Given the description of an element on the screen output the (x, y) to click on. 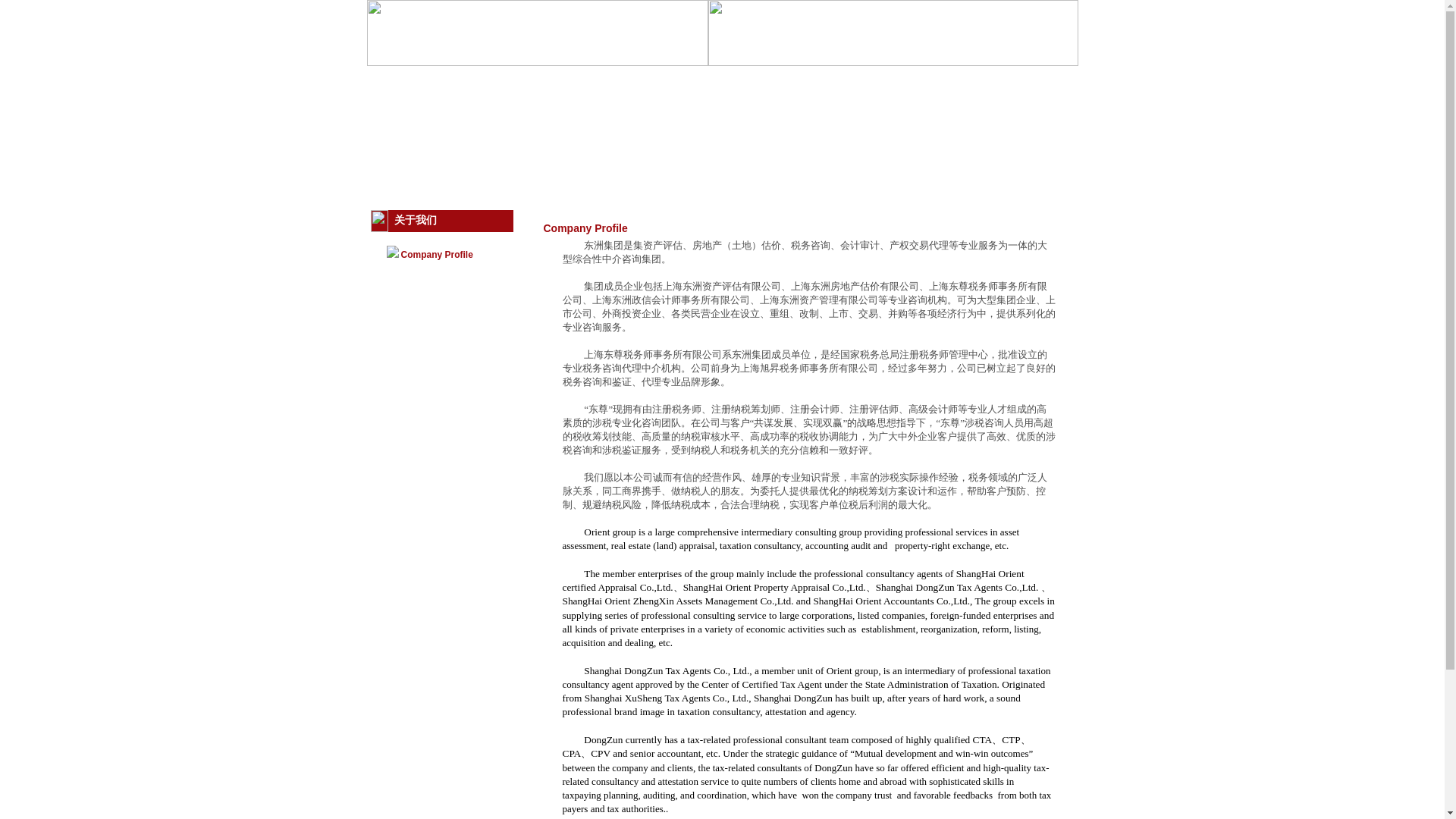
Company Profile (435, 254)
